Given the description of an element on the screen output the (x, y) to click on. 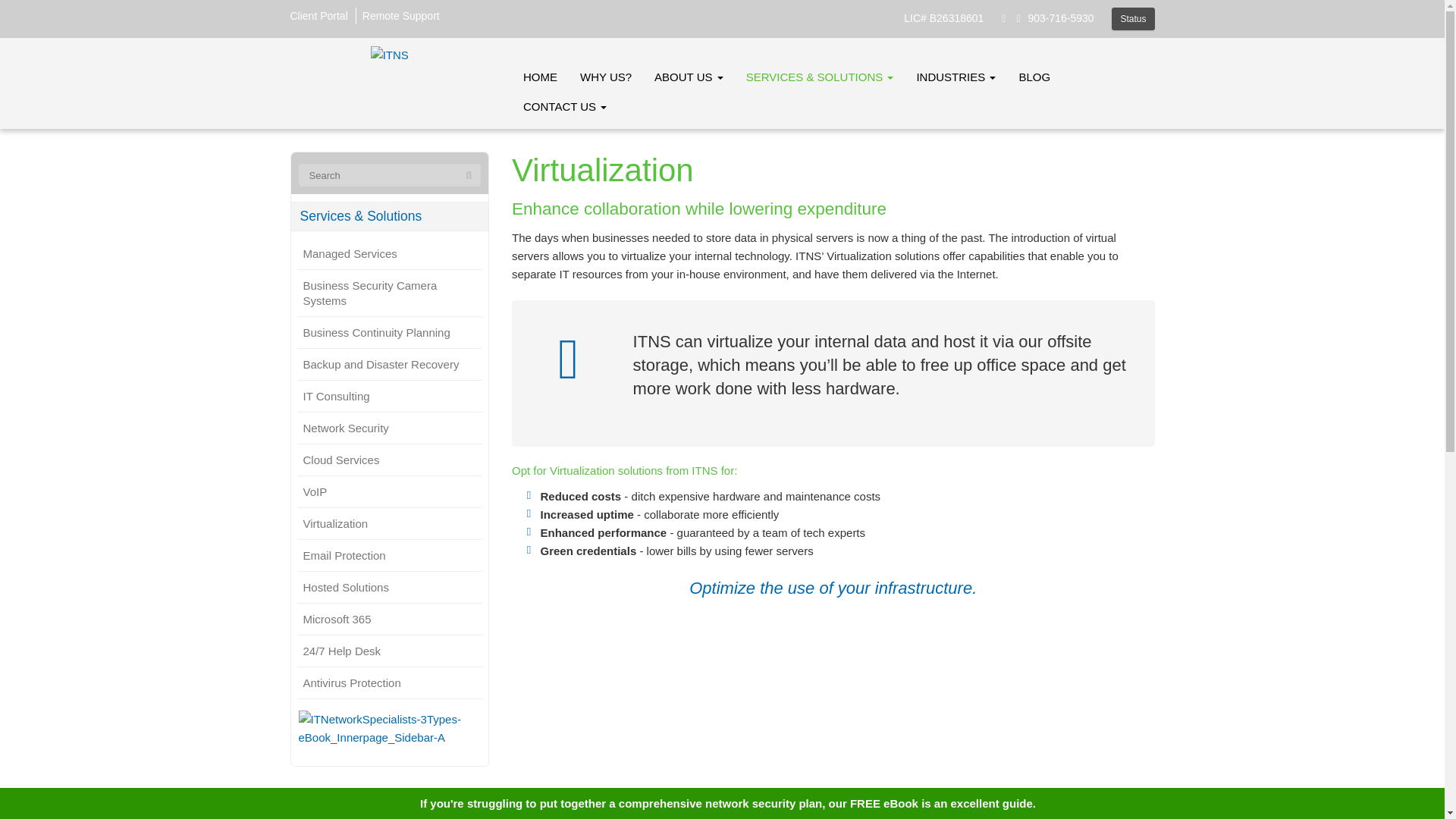
Client Portal (318, 15)
Search (468, 175)
INDUSTRIES (955, 77)
CONTACT US (564, 106)
ABOUT US (689, 77)
Remote Support (400, 15)
BLOG (1034, 77)
Status (1133, 18)
WHY US? (606, 77)
HOME (540, 77)
